Given the description of an element on the screen output the (x, y) to click on. 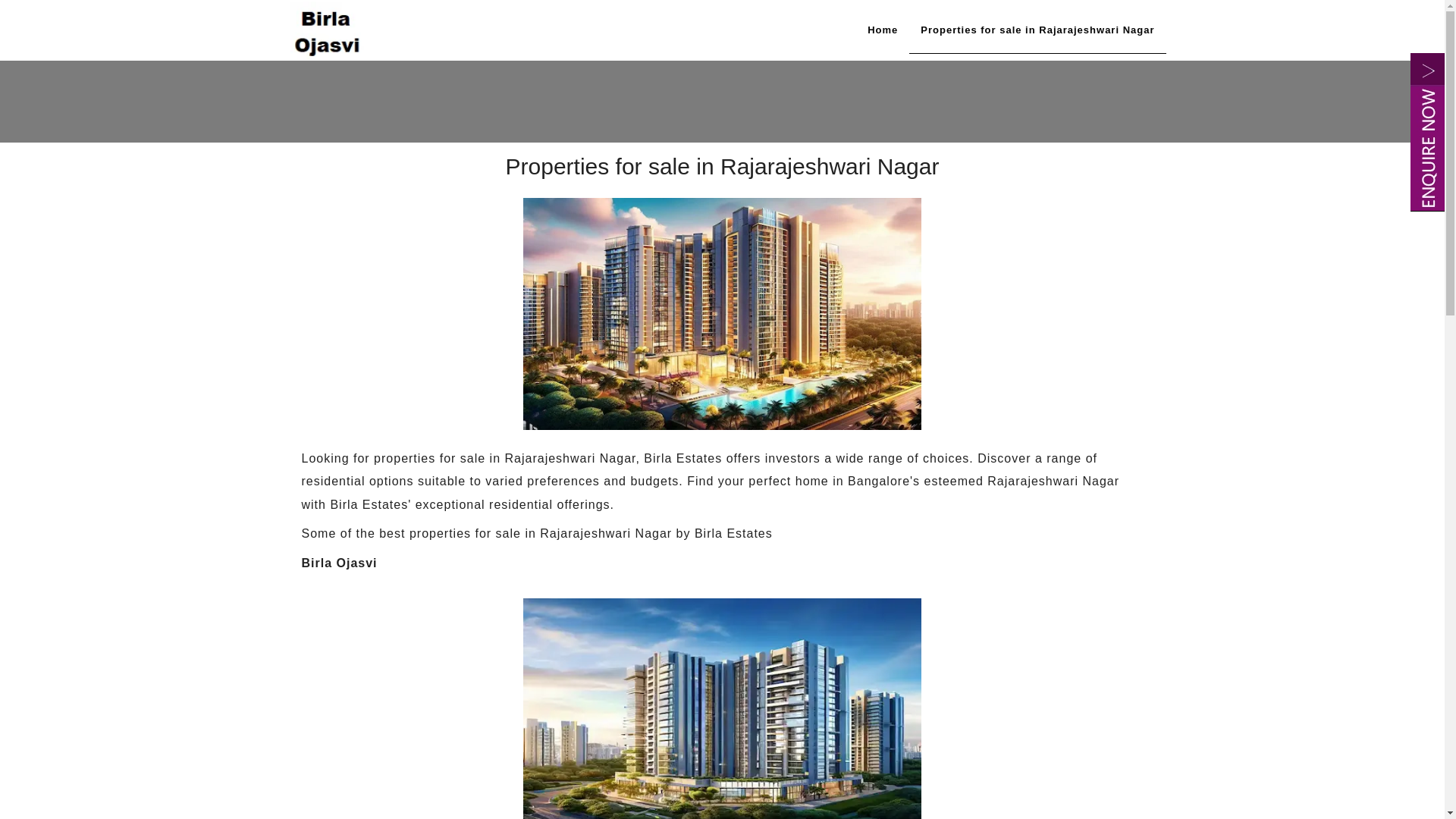
Birla Ojasvi (882, 30)
Birla Ojasvi (721, 708)
Birla Ojasvi Logo (327, 30)
Properties for sale in Rajarajeshwari Nagar (1037, 30)
Properties for sale in Rajarajeshwari Nagar (721, 313)
Properties for sale in Rajarajeshwari Nagar (1037, 30)
Home (882, 30)
Birla Ojasvi Logo (327, 29)
